Given the description of an element on the screen output the (x, y) to click on. 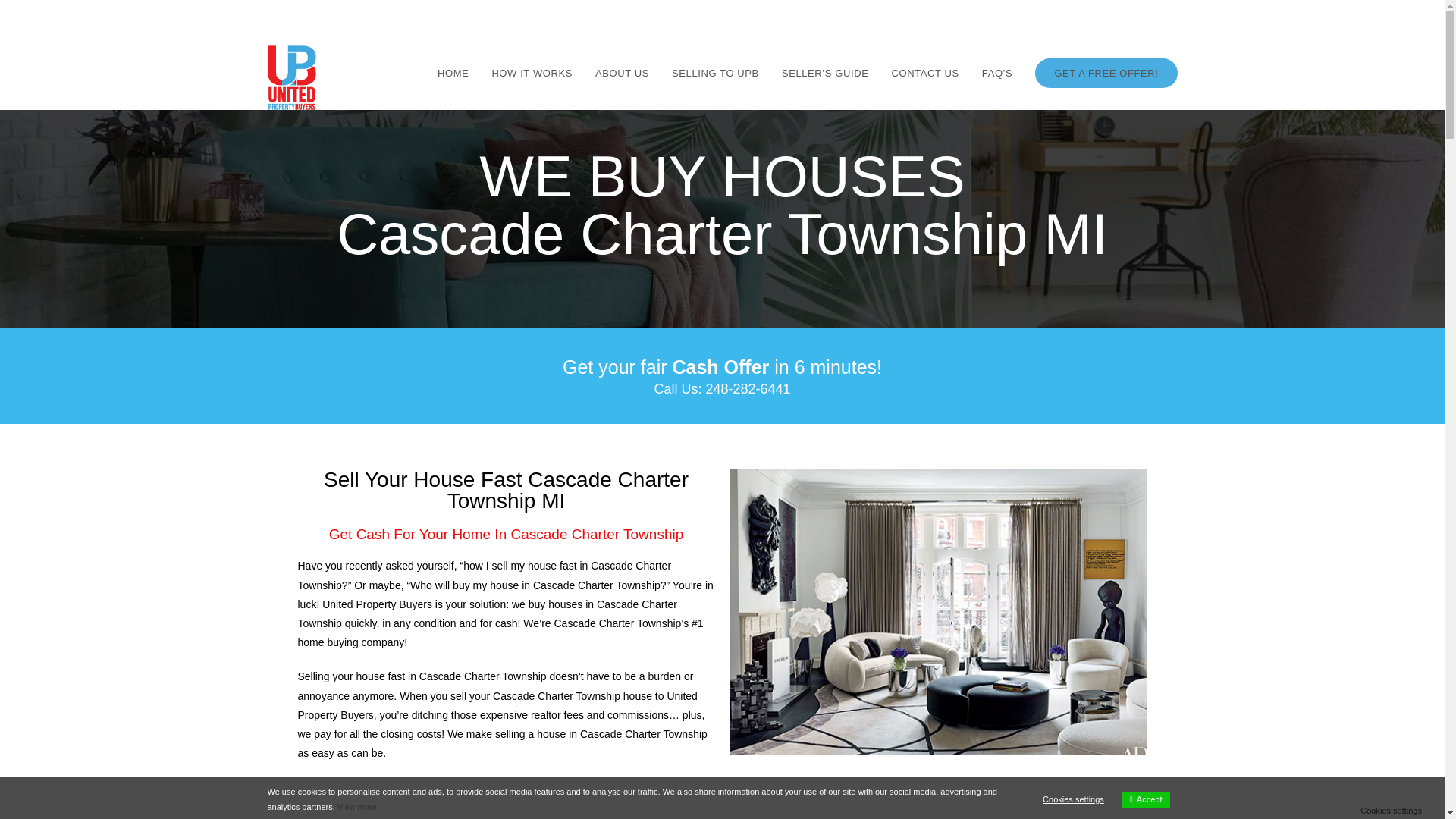
ABOUT US (622, 73)
CONTACT US (924, 73)
HOME (453, 73)
HOW IT WORKS (531, 73)
GET A FREE OFFER! (1105, 73)
SELLING TO UPB (715, 73)
